Given the description of an element on the screen output the (x, y) to click on. 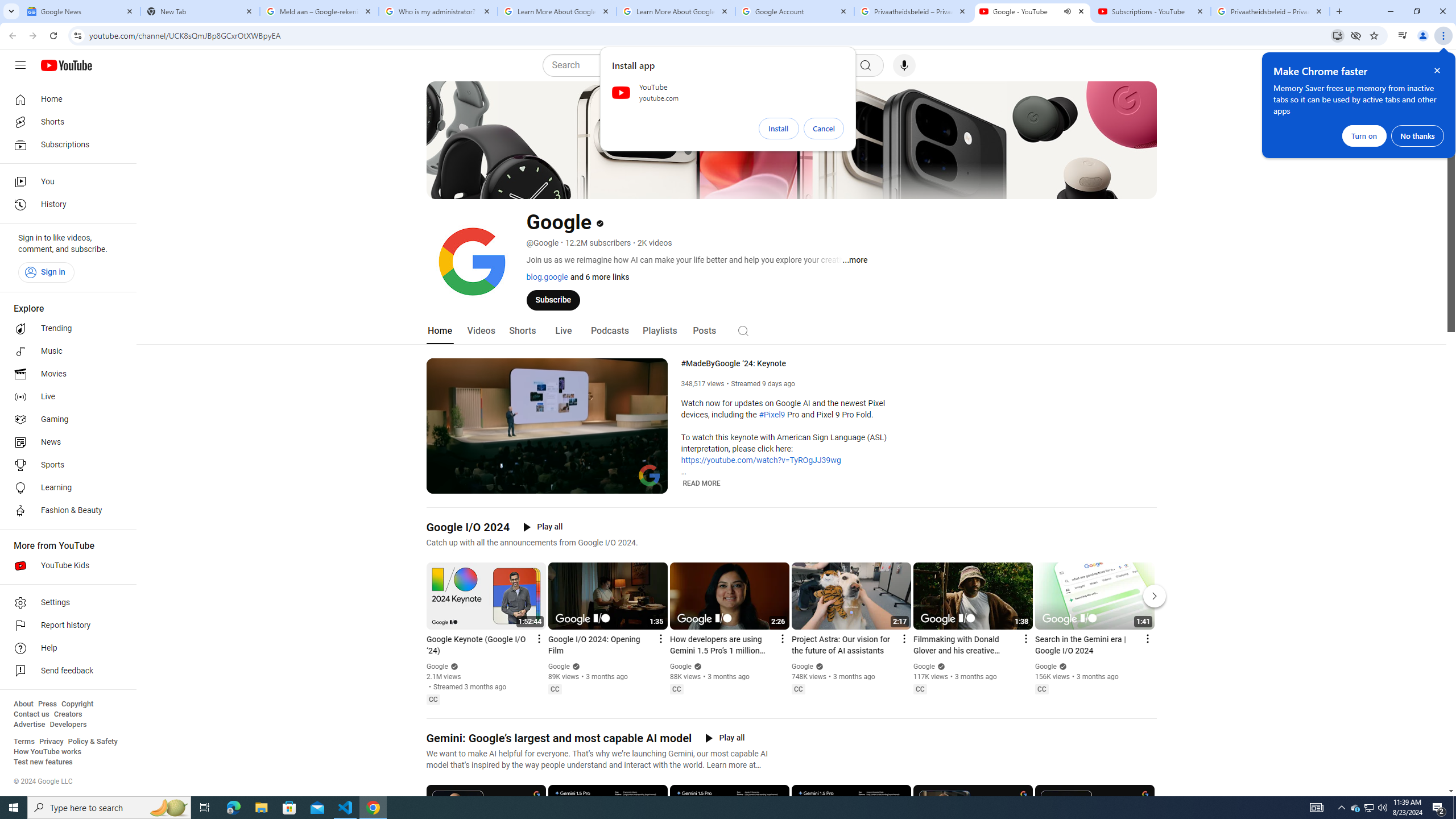
Policy & Safety (91, 741)
Videos (481, 330)
Install (778, 128)
Report history (64, 625)
Google Account (794, 11)
About (23, 703)
Closed captions (1041, 688)
Turn on (1364, 135)
and 6 more links (598, 276)
